Given the description of an element on the screen output the (x, y) to click on. 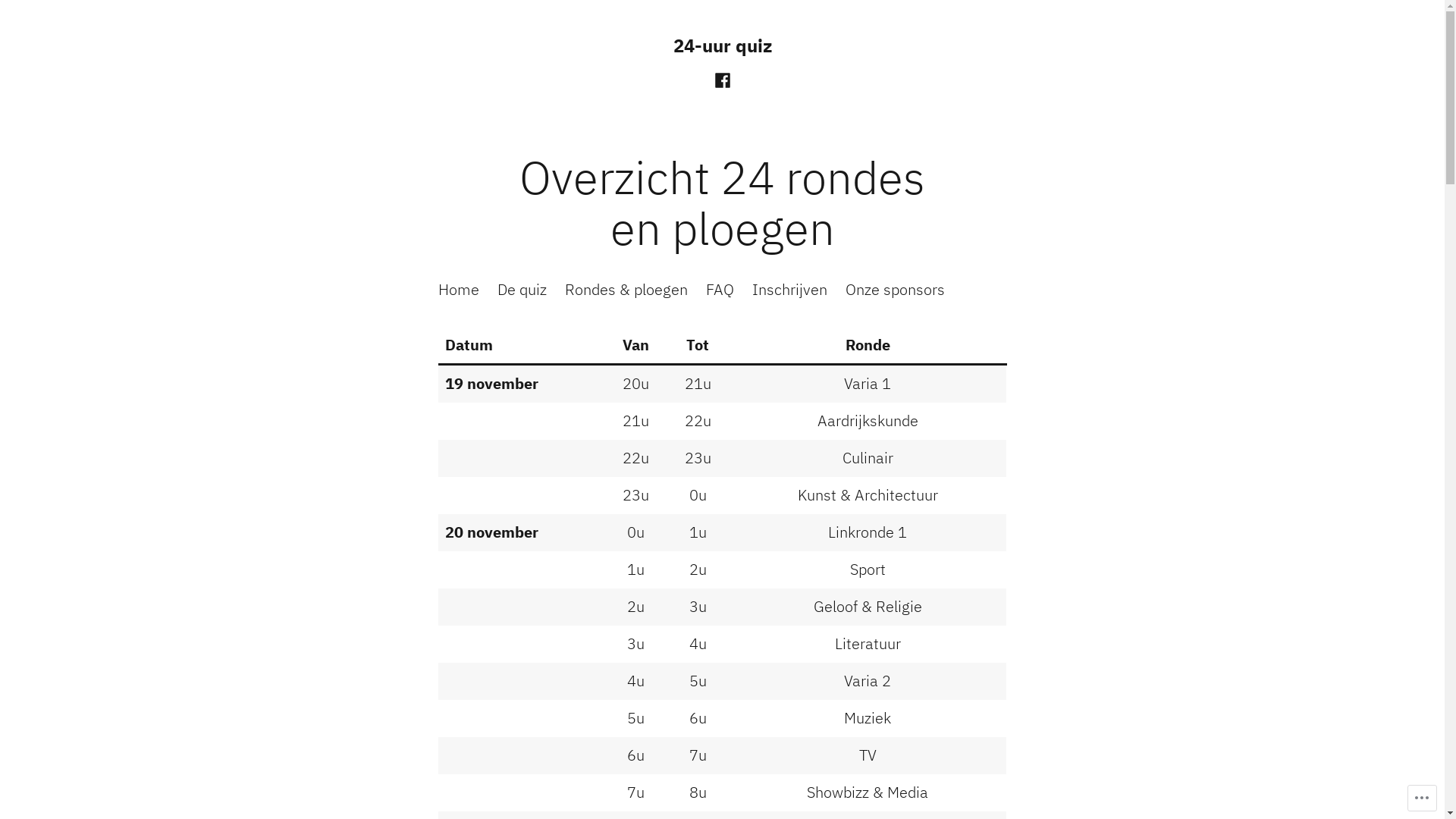
Rondes & ploegen Element type: text (625, 289)
24-uur quiz Element type: text (722, 45)
Inschrijven Element type: text (789, 289)
FAQ Element type: text (719, 289)
Onze sponsors Element type: text (894, 289)
De quiz Element type: text (521, 289)
Home Element type: text (458, 289)
